Given the description of an element on the screen output the (x, y) to click on. 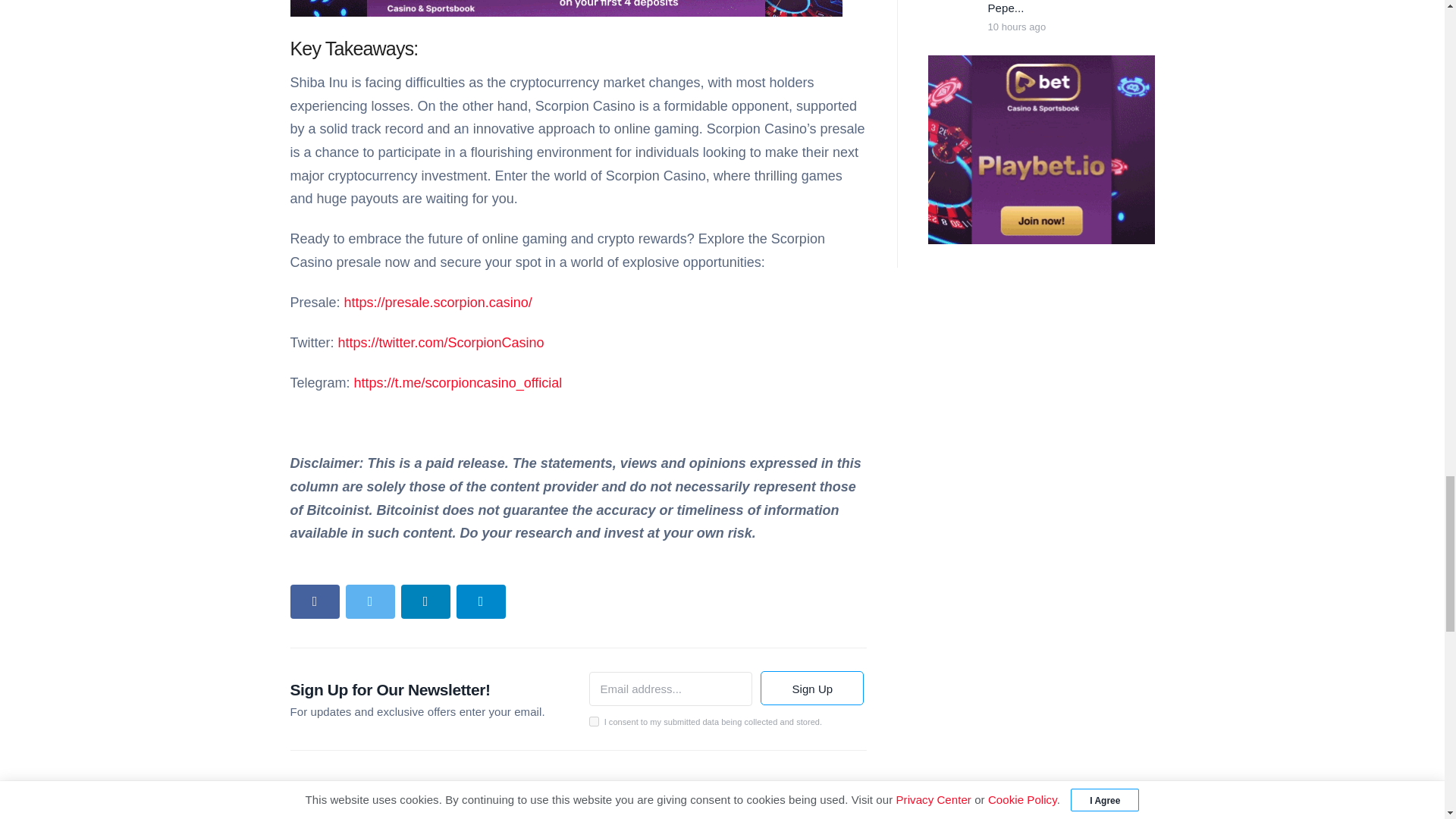
1 (593, 721)
